Given the description of an element on the screen output the (x, y) to click on. 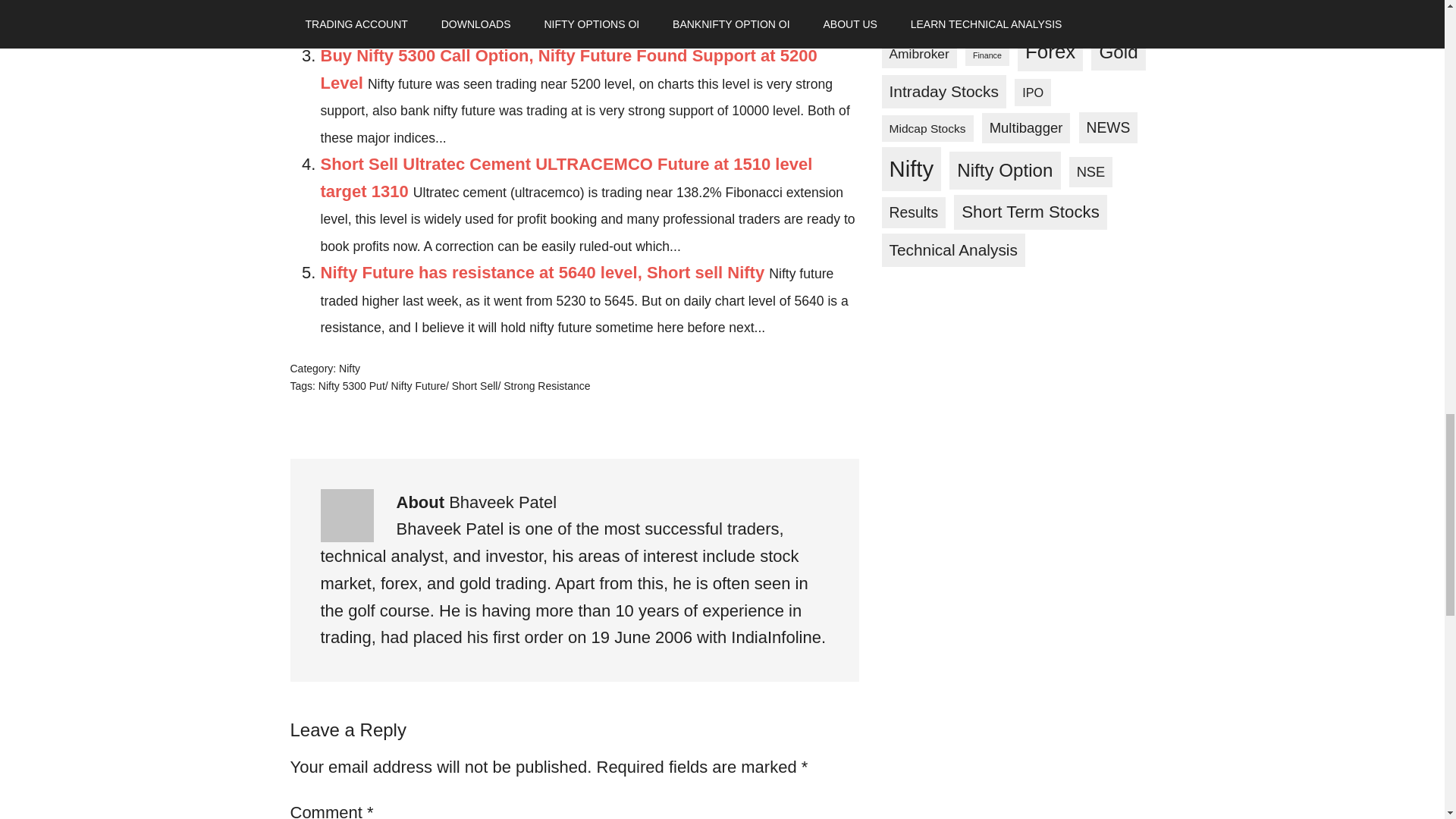
Nifty (349, 368)
Nifty Future has resistance at 5640 level, Short sell Nifty (542, 271)
Nifty Future has resistance at 5640 level, Short sell Nifty (542, 271)
